Given the description of an element on the screen output the (x, y) to click on. 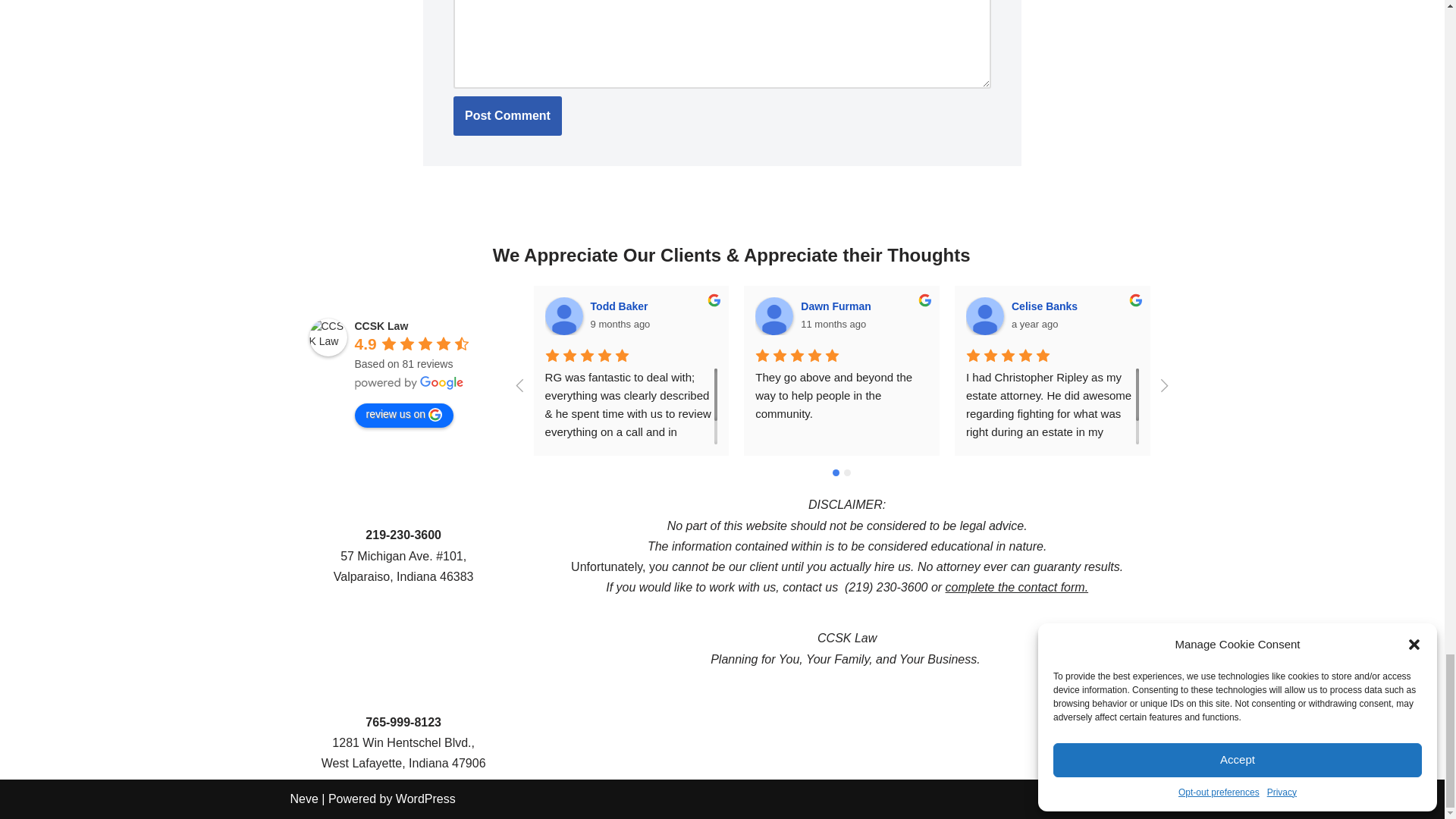
powered by Google (409, 382)
Todd Baker (563, 315)
CCSK Law (327, 337)
Dawn Furman (774, 315)
Celise Banks (985, 315)
Eric Moldenhauer (1406, 315)
Brad Mistina (1195, 315)
Post Comment (507, 115)
